Given the description of an element on the screen output the (x, y) to click on. 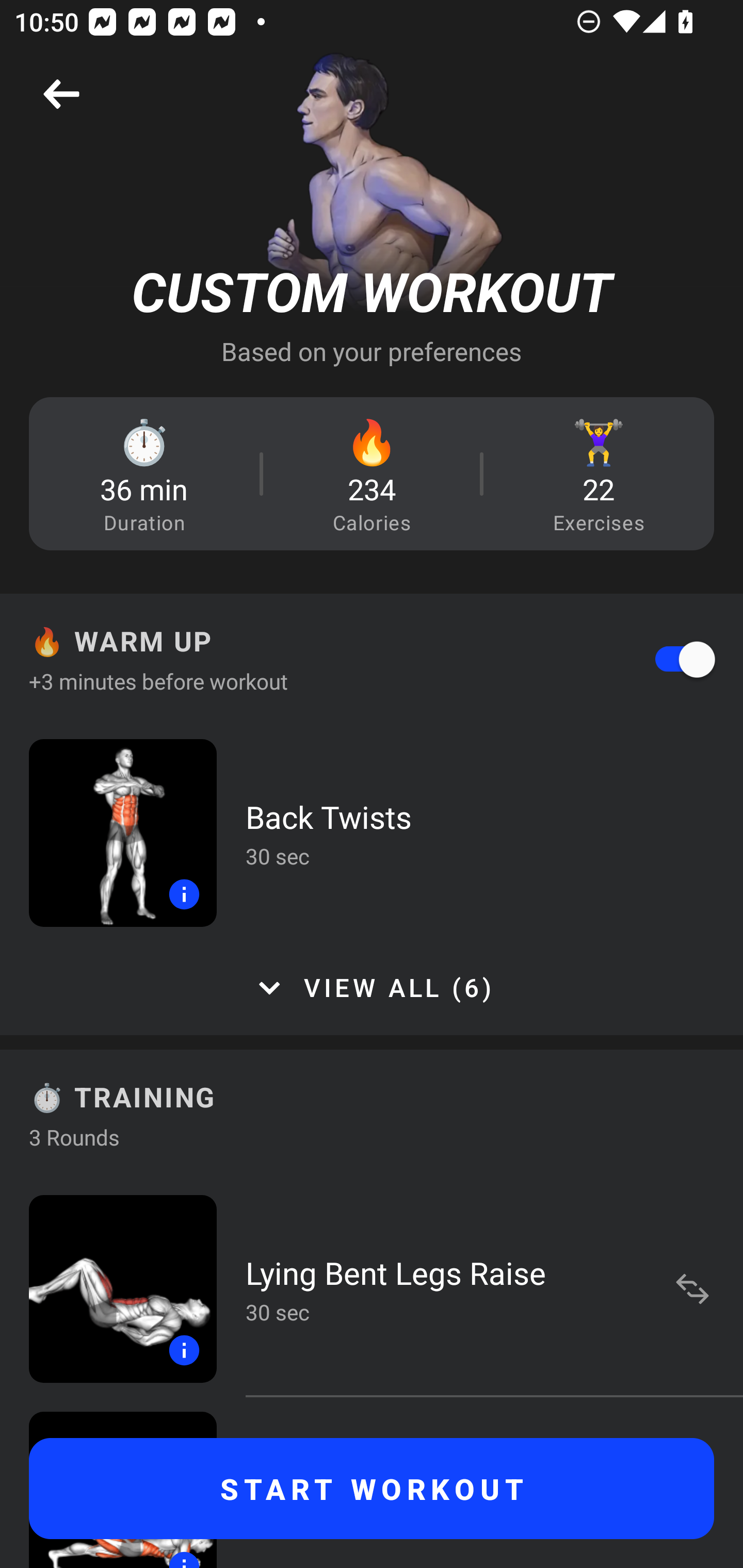
Back Twists 30 sec (371, 832)
VIEW ALL (6) (371, 987)
Lying Bent Legs Raise 30 sec (371, 1288)
START WORKOUT (371, 1488)
